Given the description of an element on the screen output the (x, y) to click on. 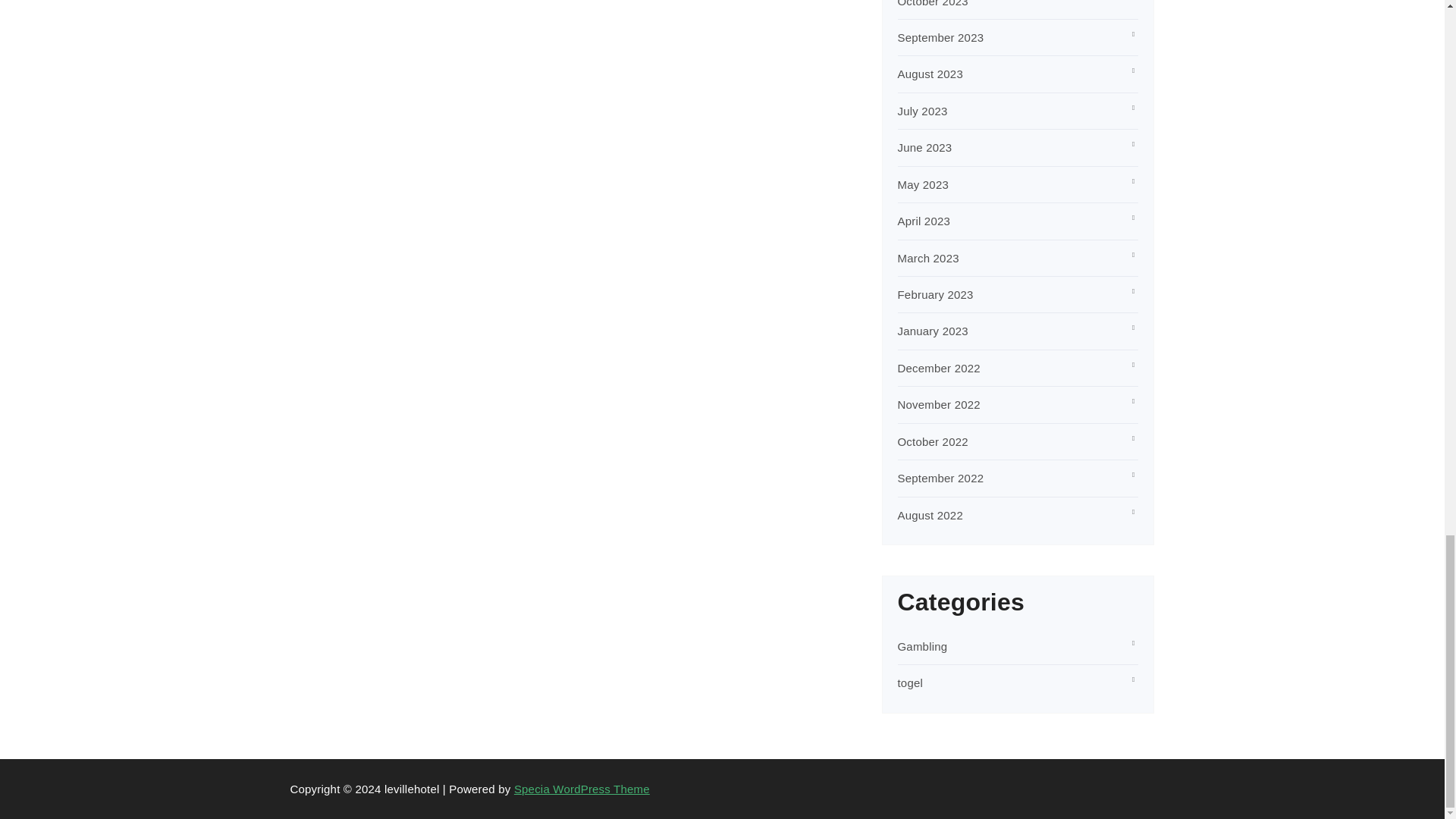
June 2023 (925, 146)
August 2023 (930, 73)
July 2023 (922, 110)
September 2023 (941, 37)
October 2023 (933, 3)
